Given the description of an element on the screen output the (x, y) to click on. 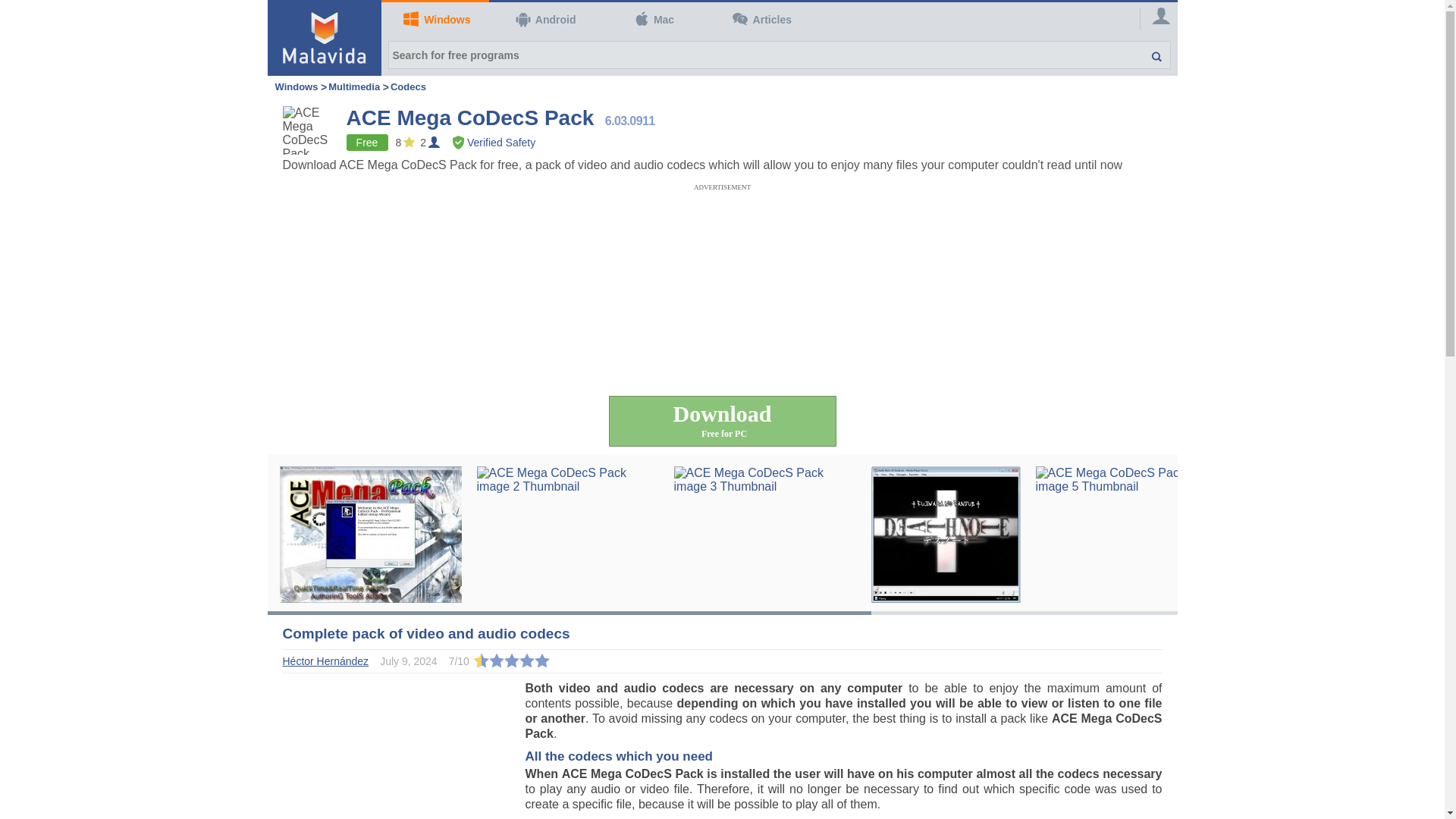
Download programs free for Windows (434, 19)
Windows (296, 86)
ACE Mega CoDecS Pack image 1  (370, 532)
Mac (651, 19)
user (1161, 15)
Multimedia (354, 86)
user (1153, 18)
3rd party ad content (721, 224)
Malavida Safety First (493, 142)
Articles (760, 19)
